Given the description of an element on the screen output the (x, y) to click on. 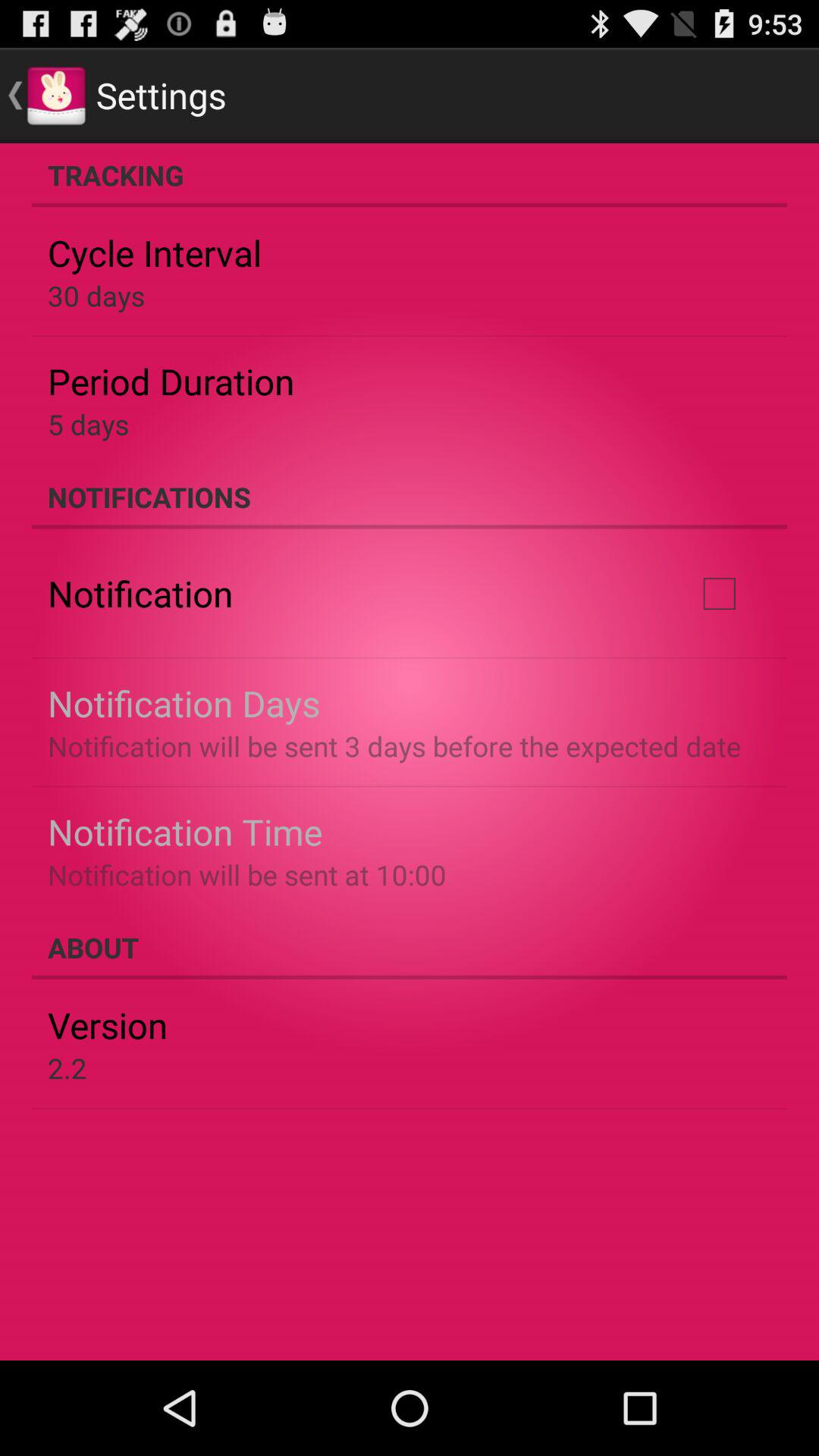
select icon below 5 days (409, 496)
